Given the description of an element on the screen output the (x, y) to click on. 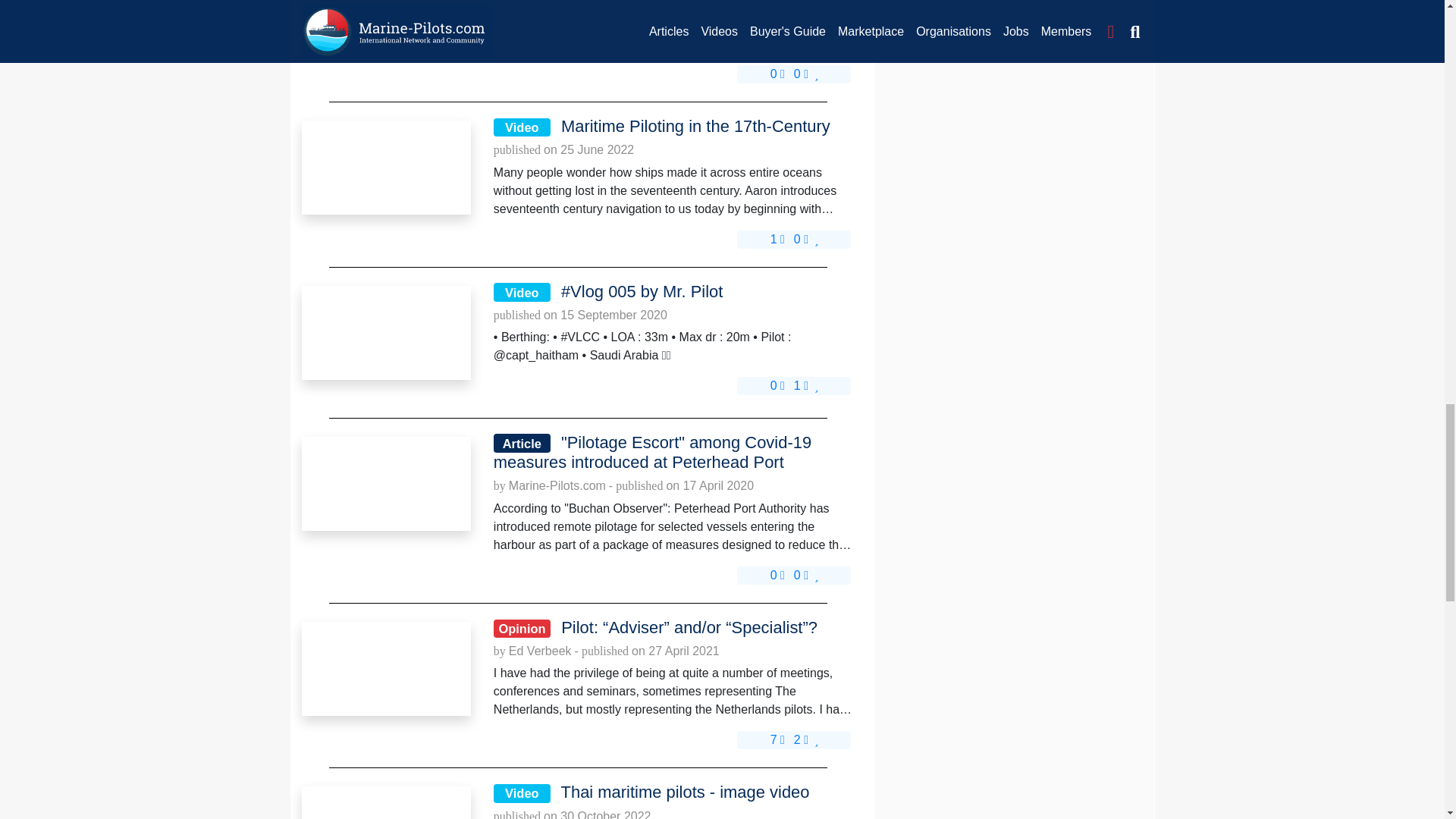
Maritime Piloting in the 17th-Century (385, 167)
Look at Life - Report on a River - The River Thames - 1963 (385, 14)
Thai maritime pilots - image video (385, 802)
